Given the description of an element on the screen output the (x, y) to click on. 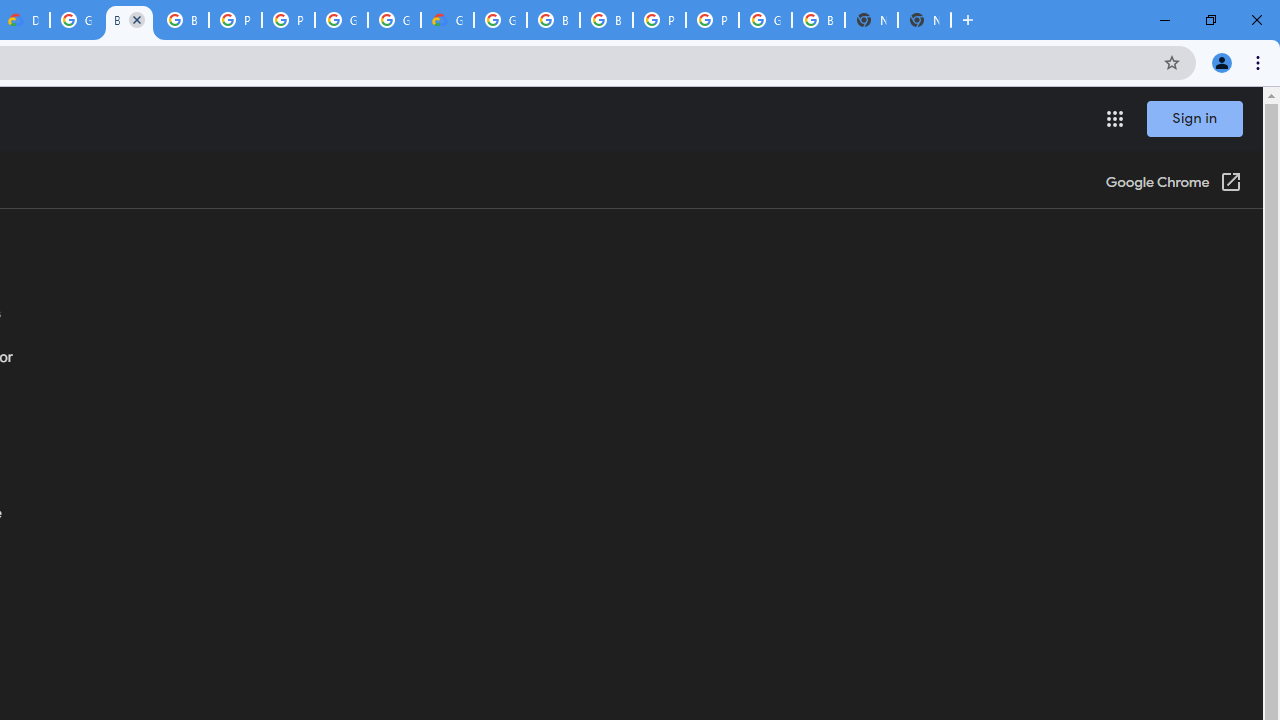
Browse Chrome as a guest - Computer - Google Chrome Help (129, 20)
Browse Chrome as a guest - Computer - Google Chrome Help (182, 20)
New Tab (924, 20)
Google Cloud Platform (765, 20)
Google Cloud Platform (76, 20)
Google Chrome (Open in a new window) (1173, 183)
